Given the description of an element on the screen output the (x, y) to click on. 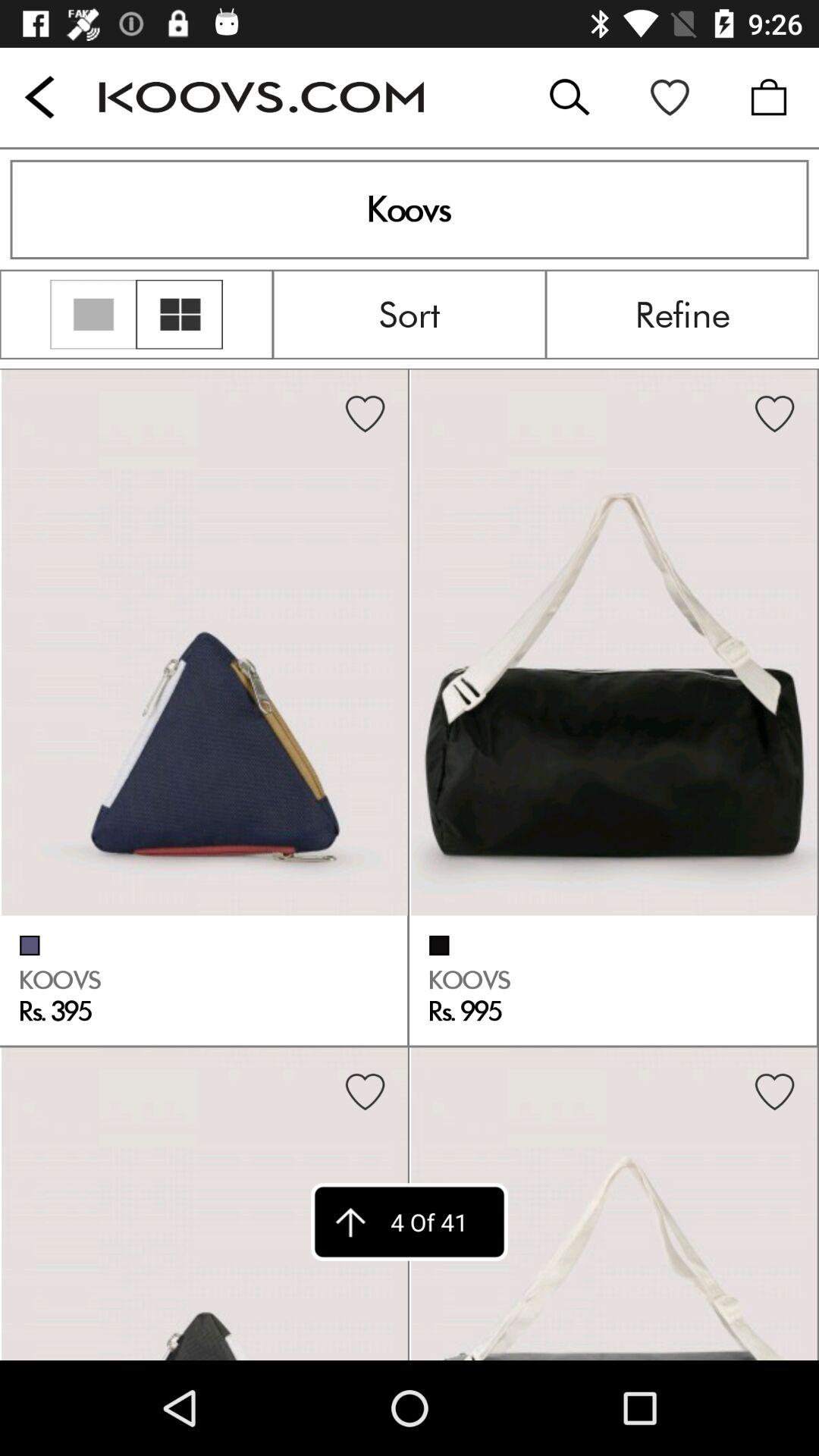
click on the heart symbol in first image on left (364, 414)
click on the check box on the left (29, 945)
click the heart icon below the refine option (774, 414)
click on the second image (614, 642)
go to the text refine placed right to sort (682, 314)
